Given the description of an element on the screen output the (x, y) to click on. 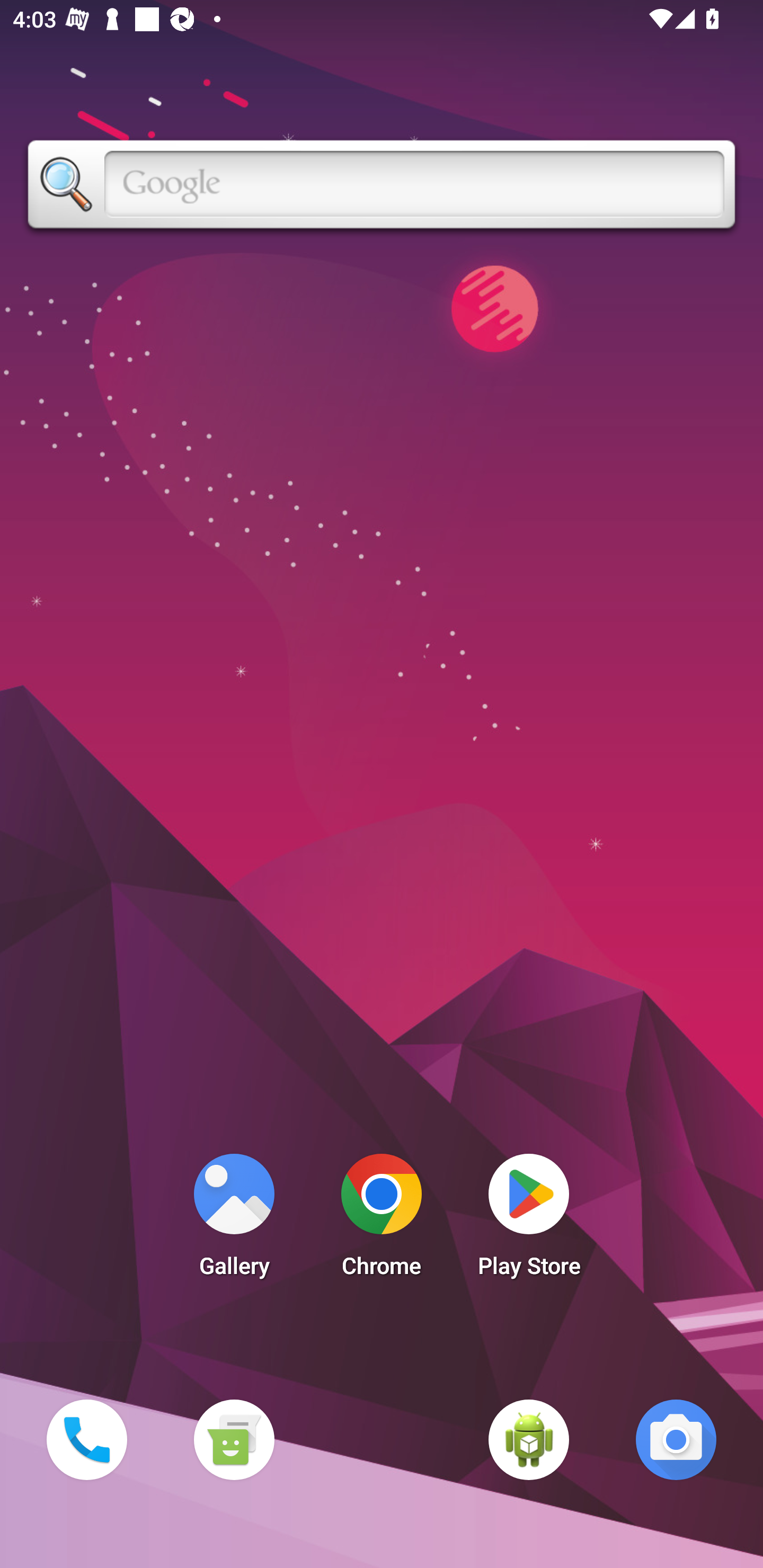
Gallery (233, 1220)
Chrome (381, 1220)
Play Store (528, 1220)
Phone (86, 1439)
Messaging (233, 1439)
WebView Browser Tester (528, 1439)
Camera (676, 1439)
